Given the description of an element on the screen output the (x, y) to click on. 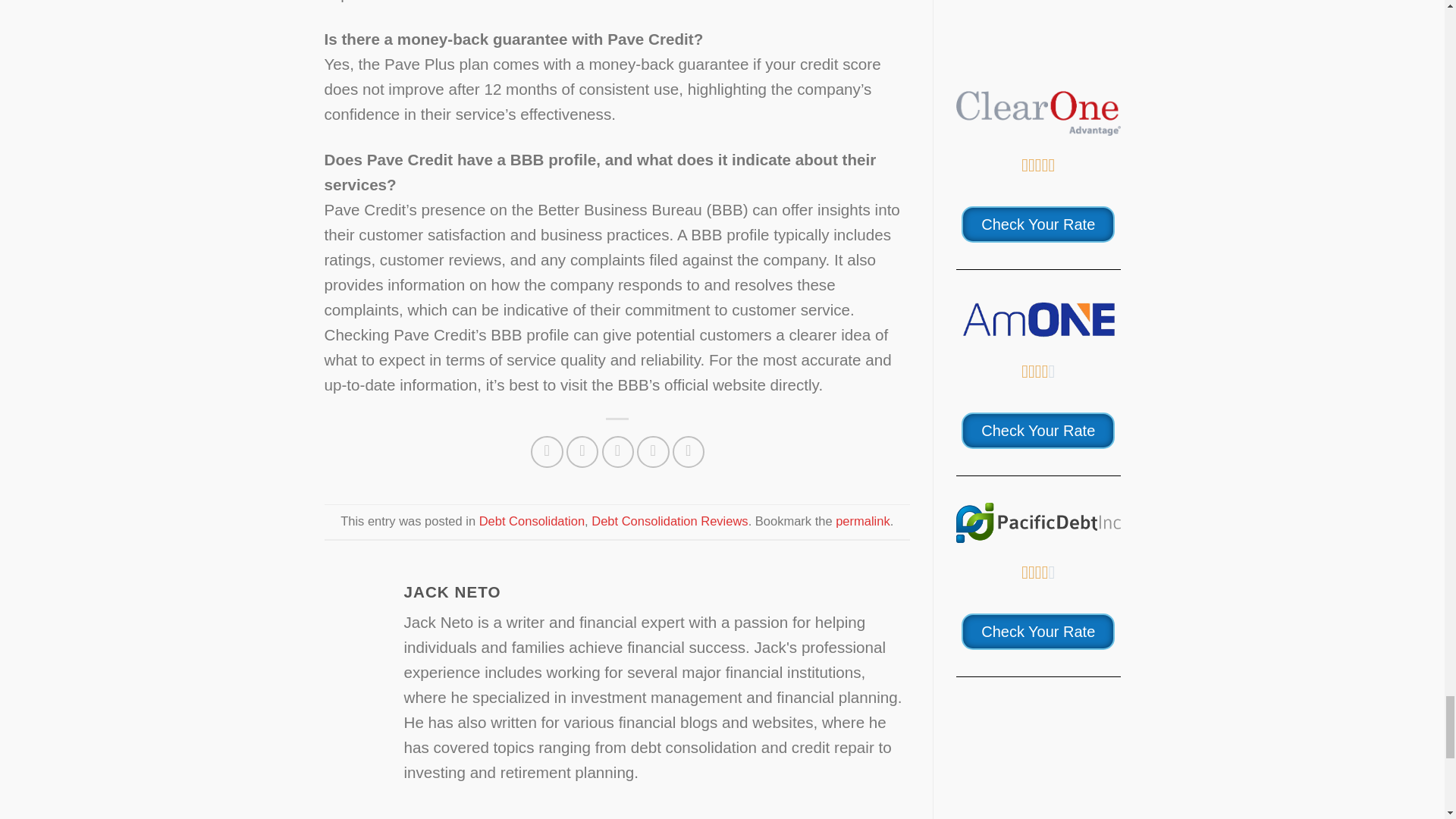
Share on Facebook (547, 451)
Pin on Pinterest (653, 451)
Permalink to Pave Credit Review: Is it a Scam or Legit? (862, 520)
Email to a Friend (618, 451)
Share on Twitter (582, 451)
Share on LinkedIn (688, 451)
